Given the description of an element on the screen output the (x, y) to click on. 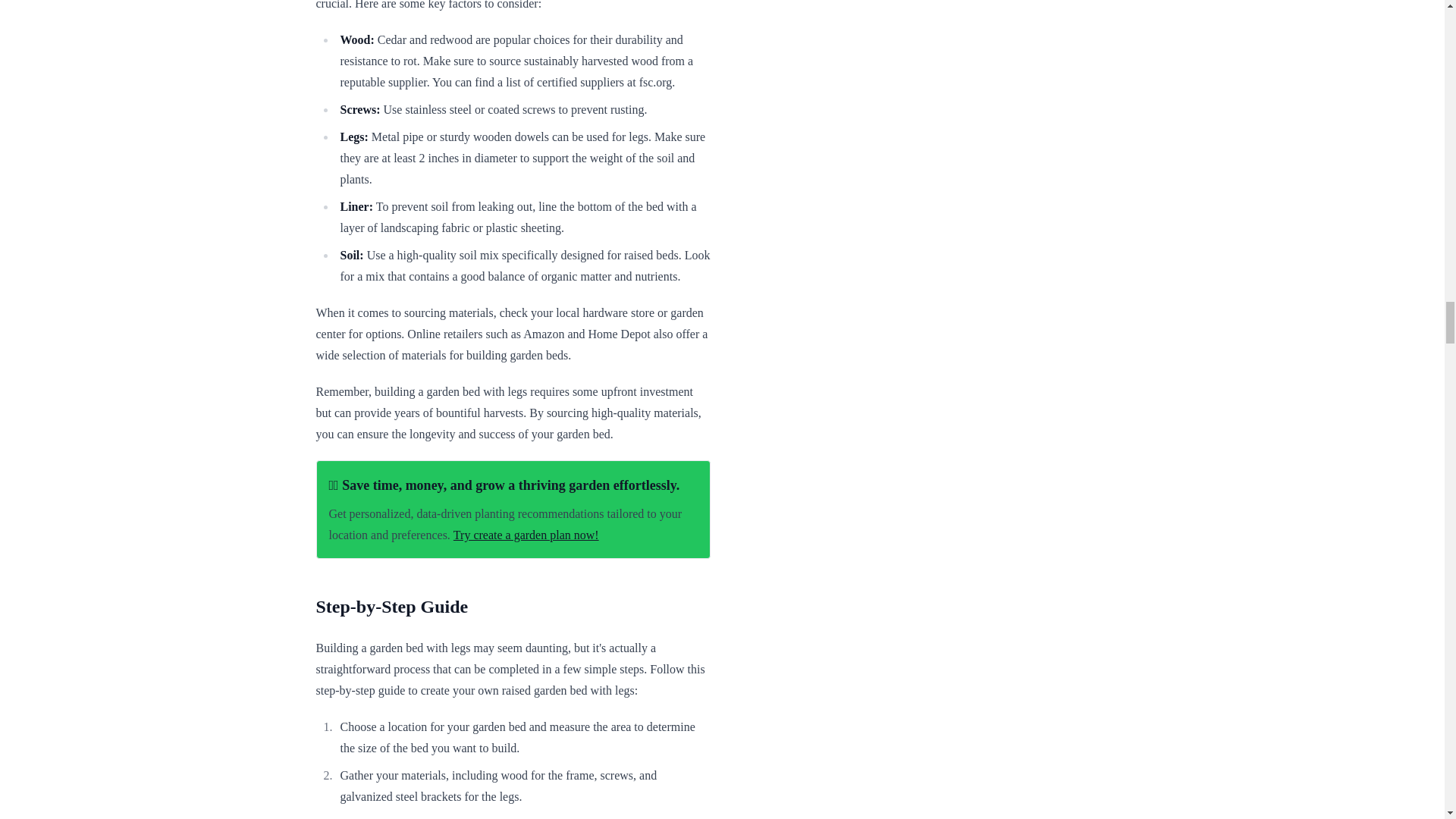
Try create a garden plan now! (525, 534)
